Given the description of an element on the screen output the (x, y) to click on. 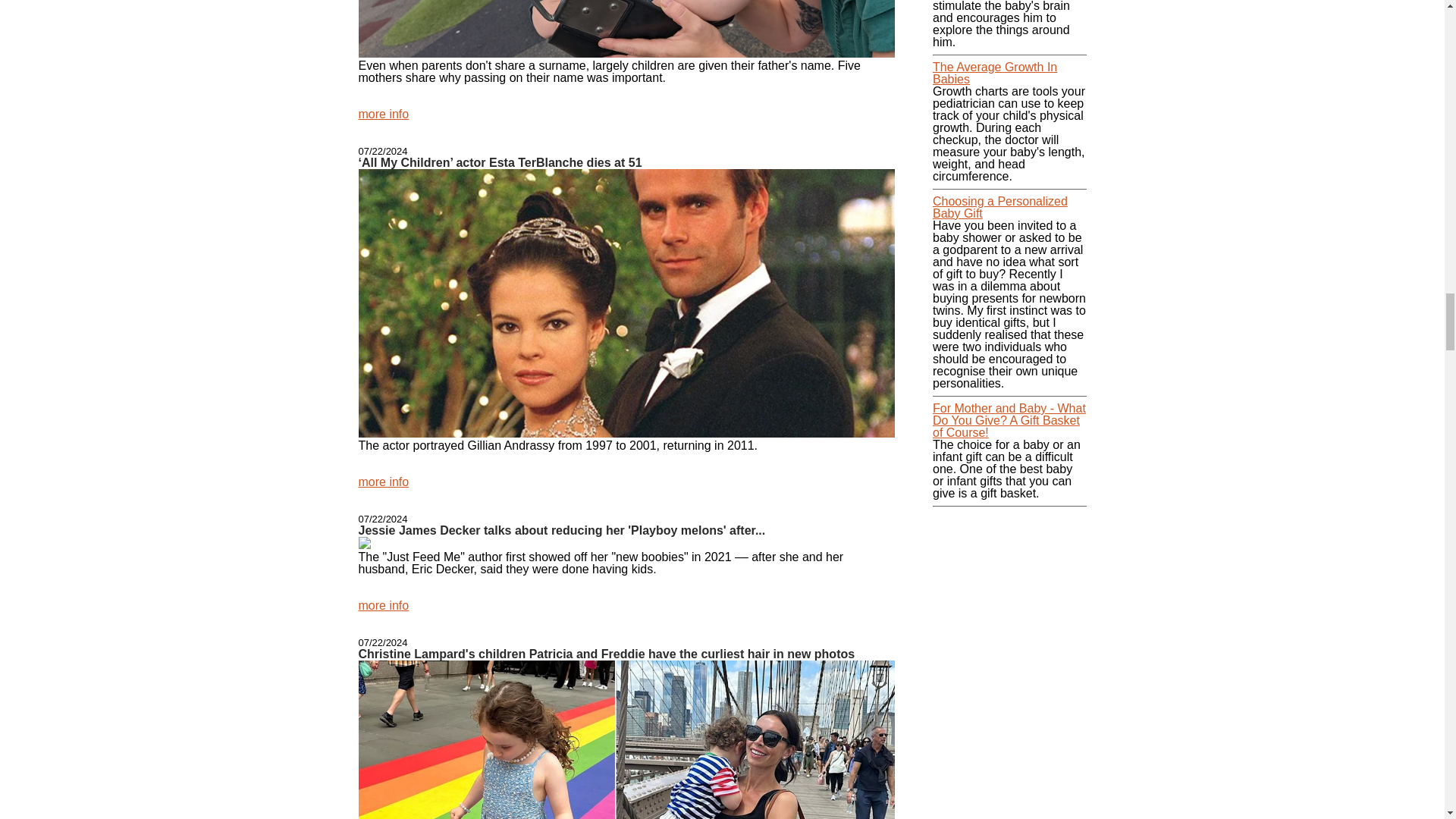
more info (383, 113)
more info (383, 481)
more info (383, 604)
